Given the description of an element on the screen output the (x, y) to click on. 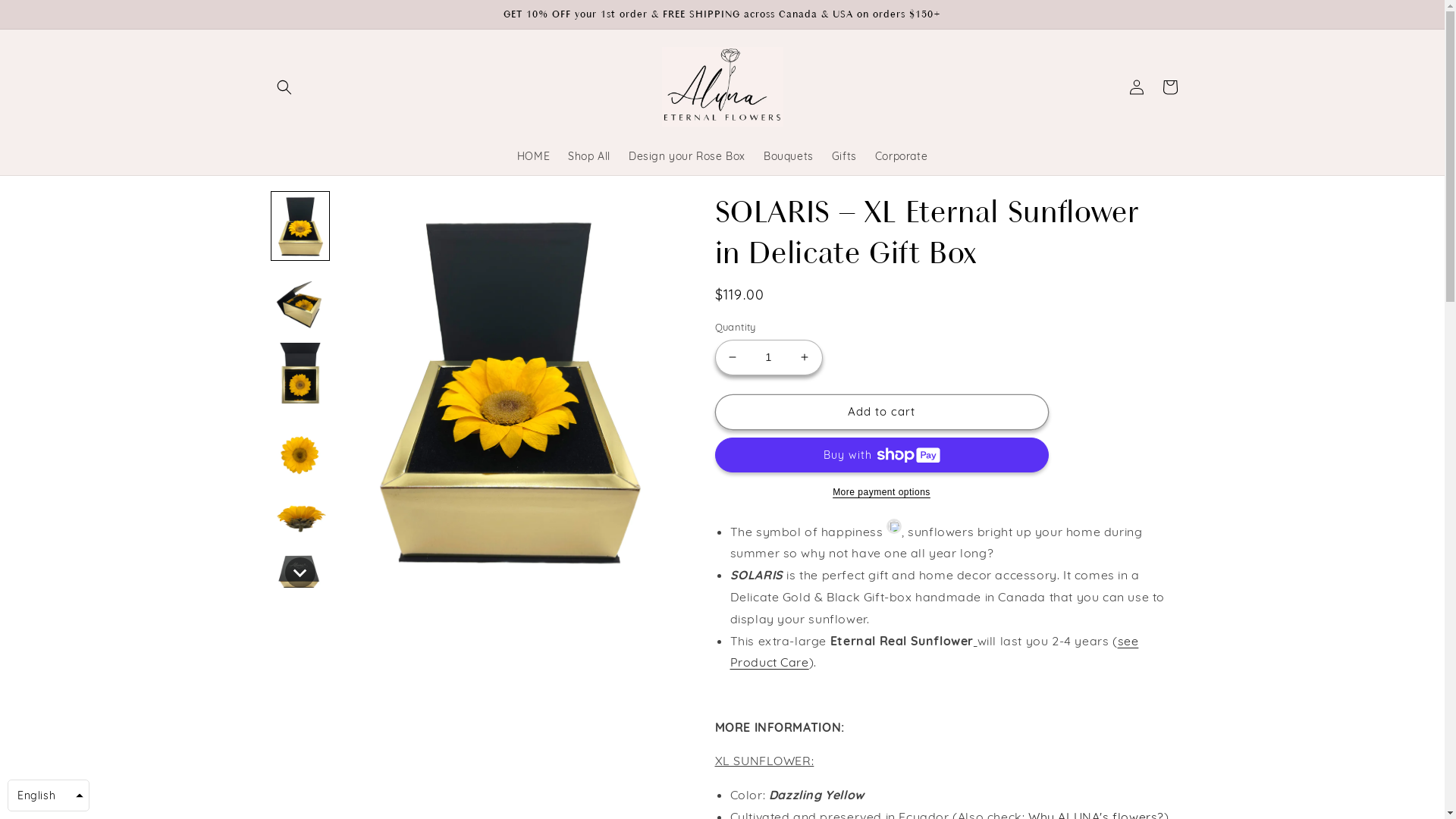
Shop All Element type: text (588, 156)
HOME Element type: text (533, 156)
Log in Element type: text (1135, 86)
Design your Rose Box Element type: text (686, 156)
Add to cart Element type: text (881, 411)
More payment options Element type: text (881, 491)
Gifts Element type: text (844, 156)
Cart Element type: text (1169, 86)
Corporate Element type: text (901, 156)
see Product Care Element type: text (933, 651)
Bouquets Element type: text (788, 156)
